Given the description of an element on the screen output the (x, y) to click on. 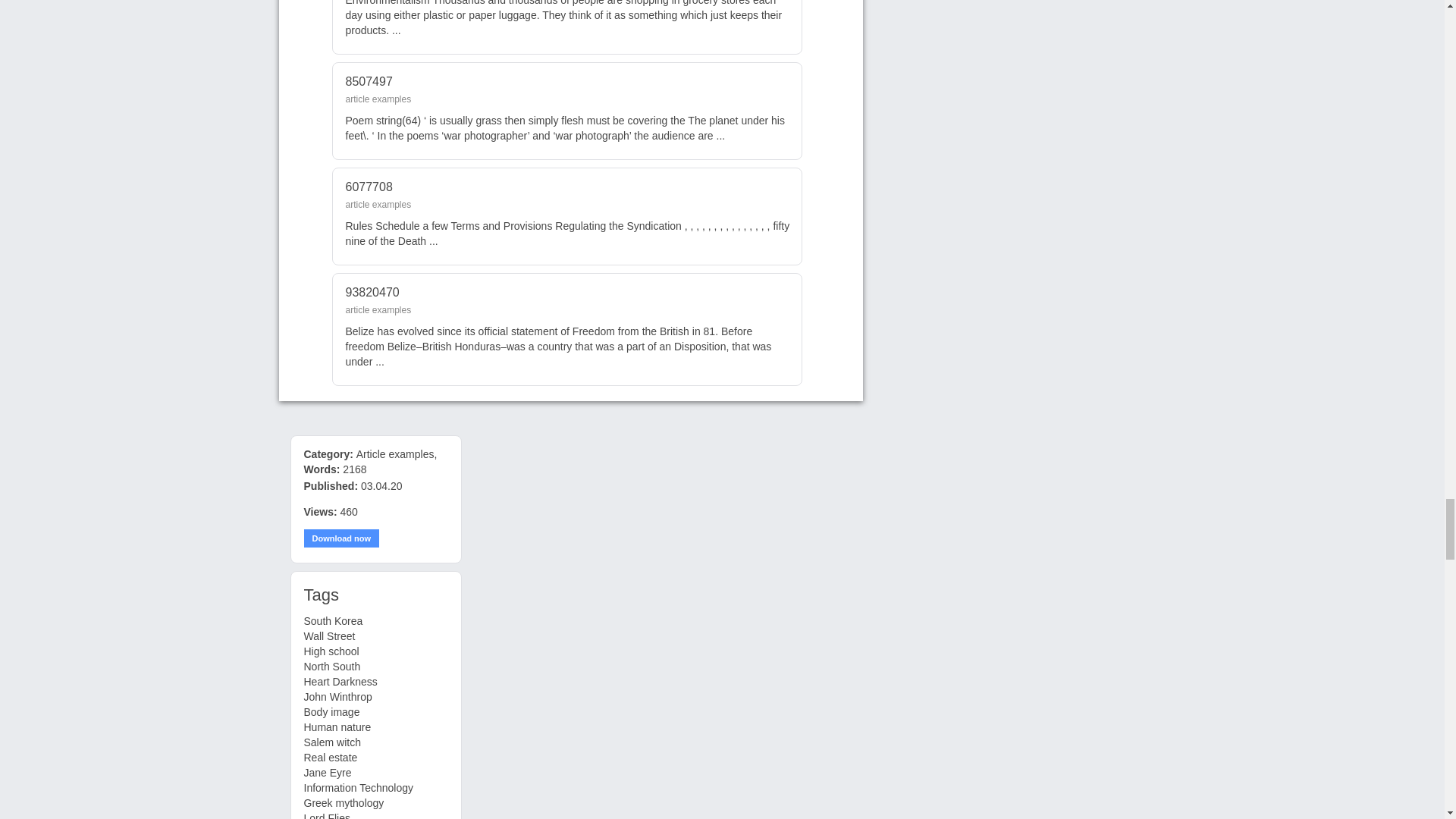
93820470 (372, 291)
Article examples (394, 453)
8507497 (369, 81)
6077708 (369, 186)
article examples (379, 204)
article examples (379, 99)
article examples (379, 309)
